Given the description of an element on the screen output the (x, y) to click on. 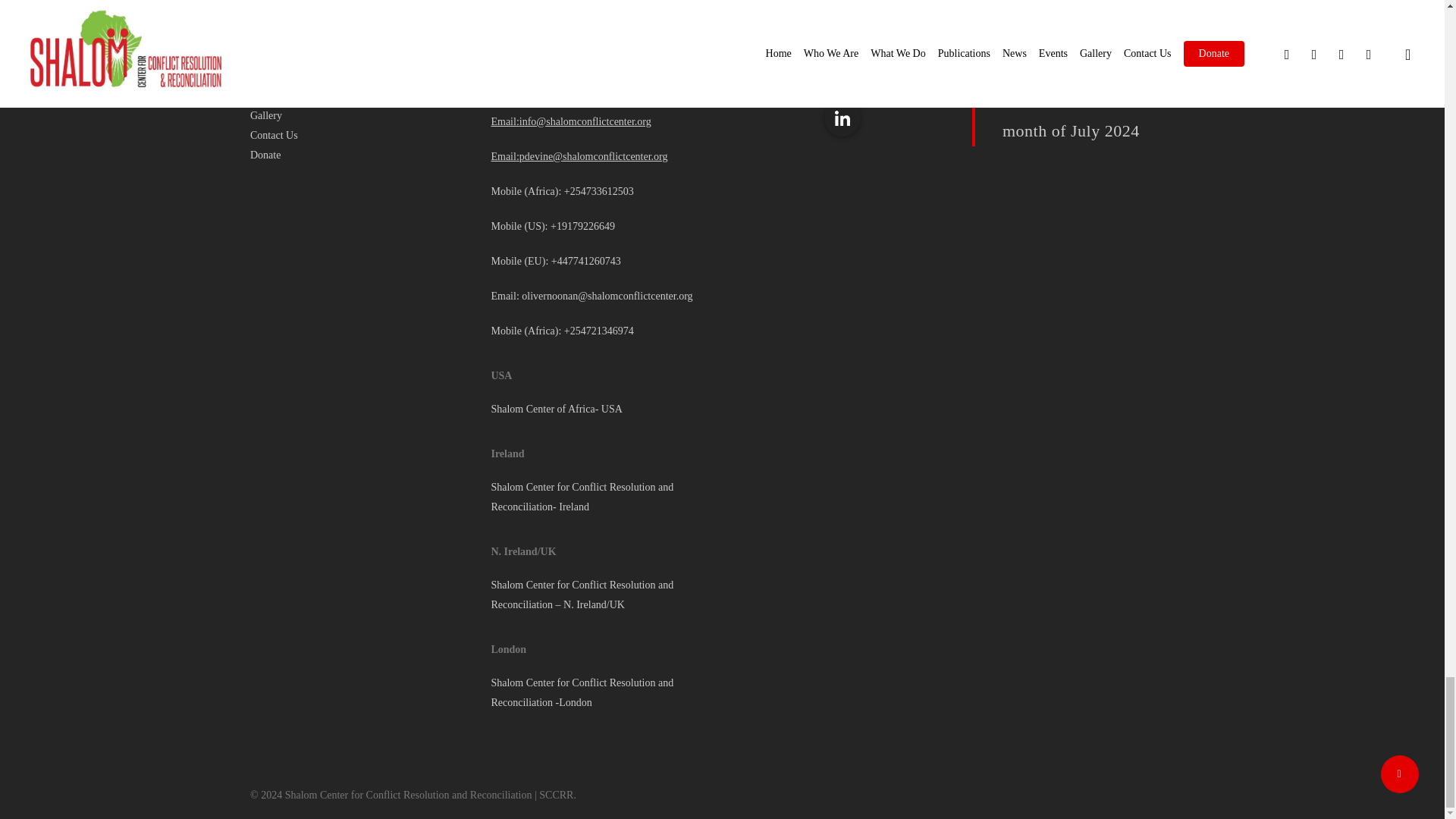
Contact Us (360, 135)
Email: (504, 121)
Who We Are (360, 17)
Publications (360, 56)
Gallery (360, 116)
Home (360, 3)
Donate (360, 155)
Events (360, 96)
What We Do (360, 36)
News (360, 76)
